Given the description of an element on the screen output the (x, y) to click on. 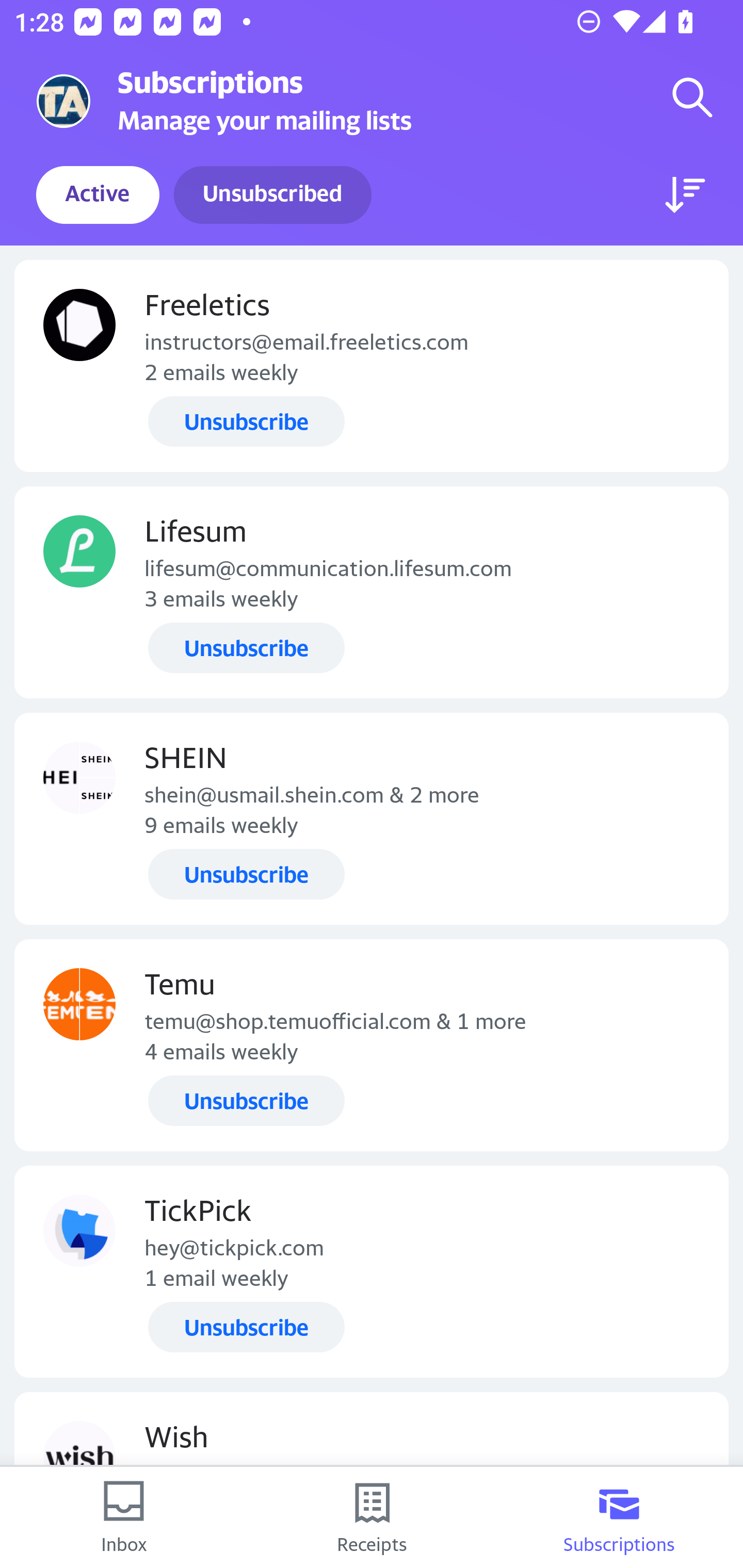
Search mail (692, 97)
Unsubscribed (272, 195)
Sort (684, 195)
Unsubscribe (245, 421)
Unsubscribe (245, 647)
Unsubscribe (245, 874)
Unsubscribe (245, 1100)
Unsubscribe (245, 1326)
Inbox (123, 1517)
Receipts (371, 1517)
Subscriptions (619, 1517)
